Given the description of an element on the screen output the (x, y) to click on. 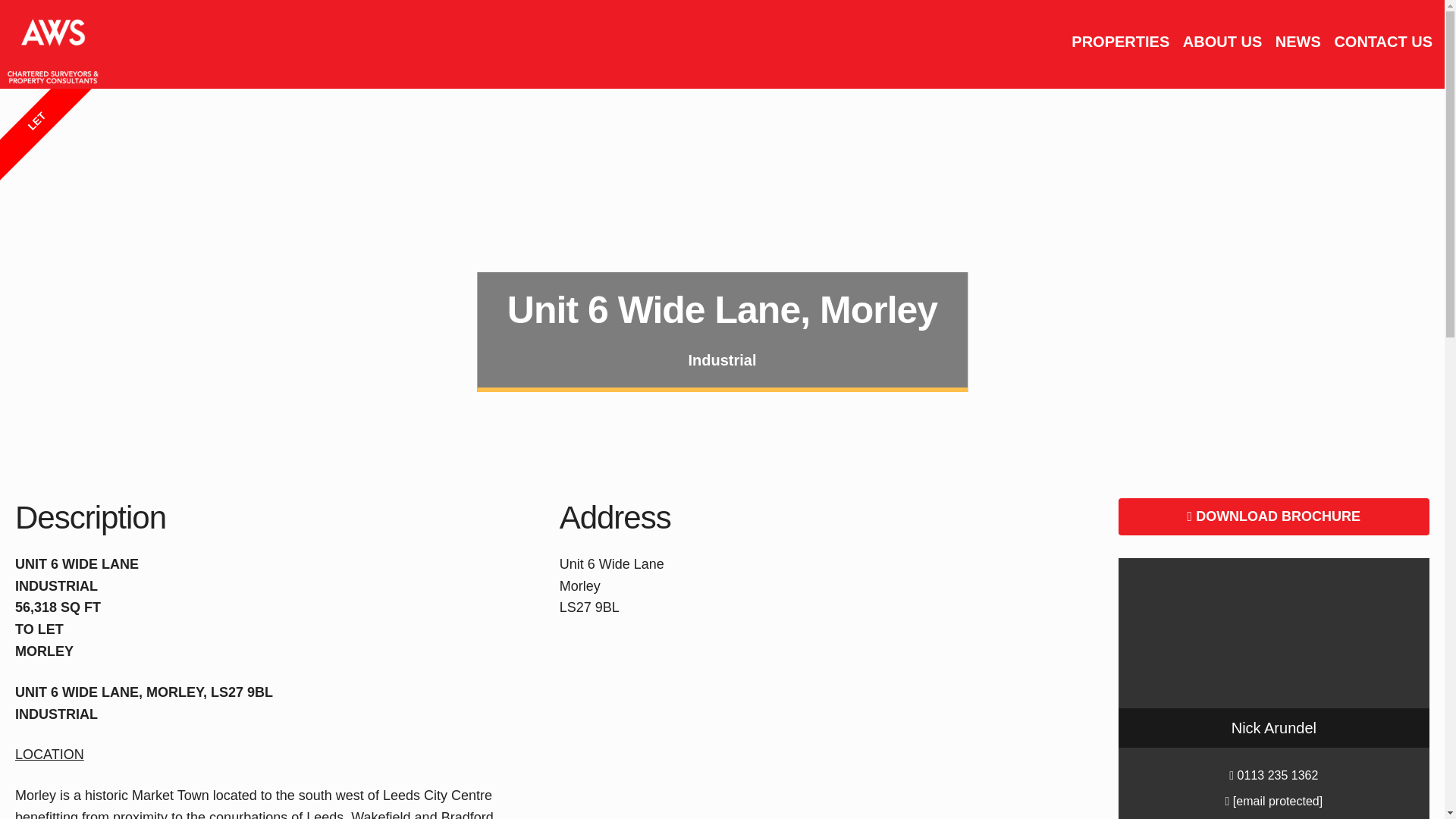
PROPERTIES (1120, 41)
DOWNLOAD BROCHURE (1273, 516)
AWS (49, 41)
NEWS (1297, 41)
0113 235 1362 (1273, 775)
ABOUT US (1222, 41)
CONTACT US (1382, 41)
